Given the description of an element on the screen output the (x, y) to click on. 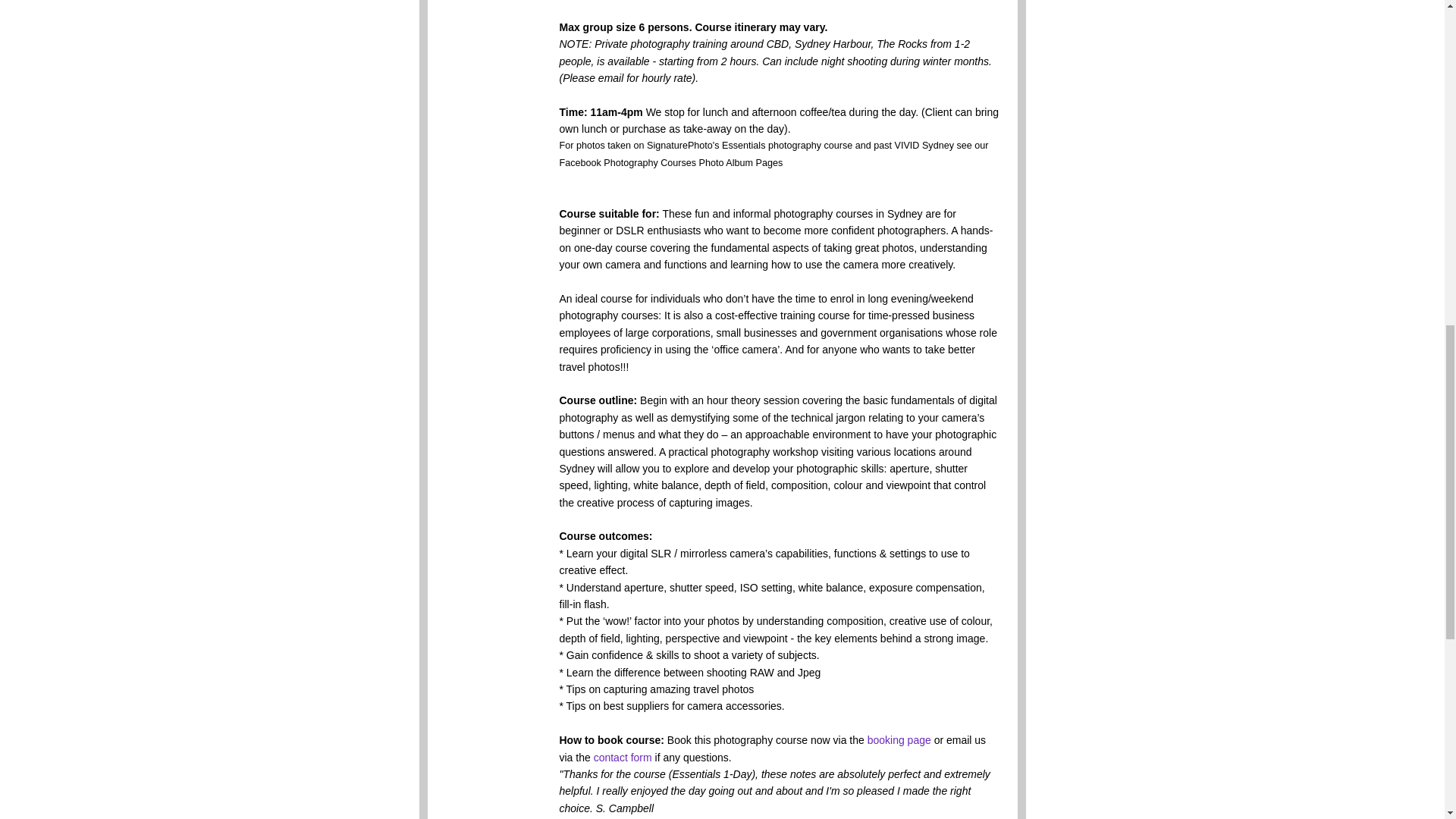
contact form (623, 757)
booking page (899, 739)
